Given the description of an element on the screen output the (x, y) to click on. 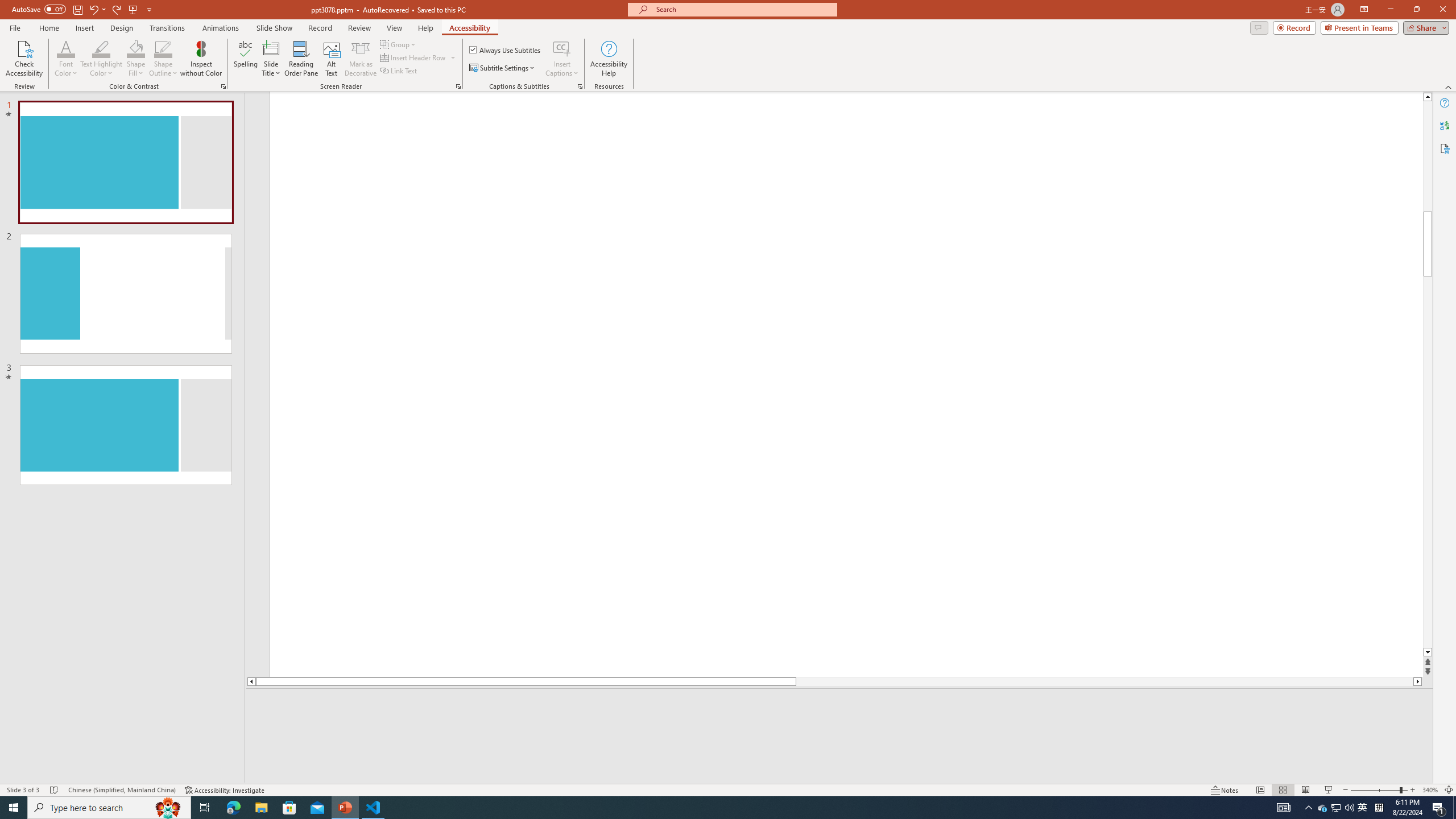
Screen Reader (458, 85)
An abstract genetic concept (845, 395)
Zoom 340% (1430, 790)
